Given the description of an element on the screen output the (x, y) to click on. 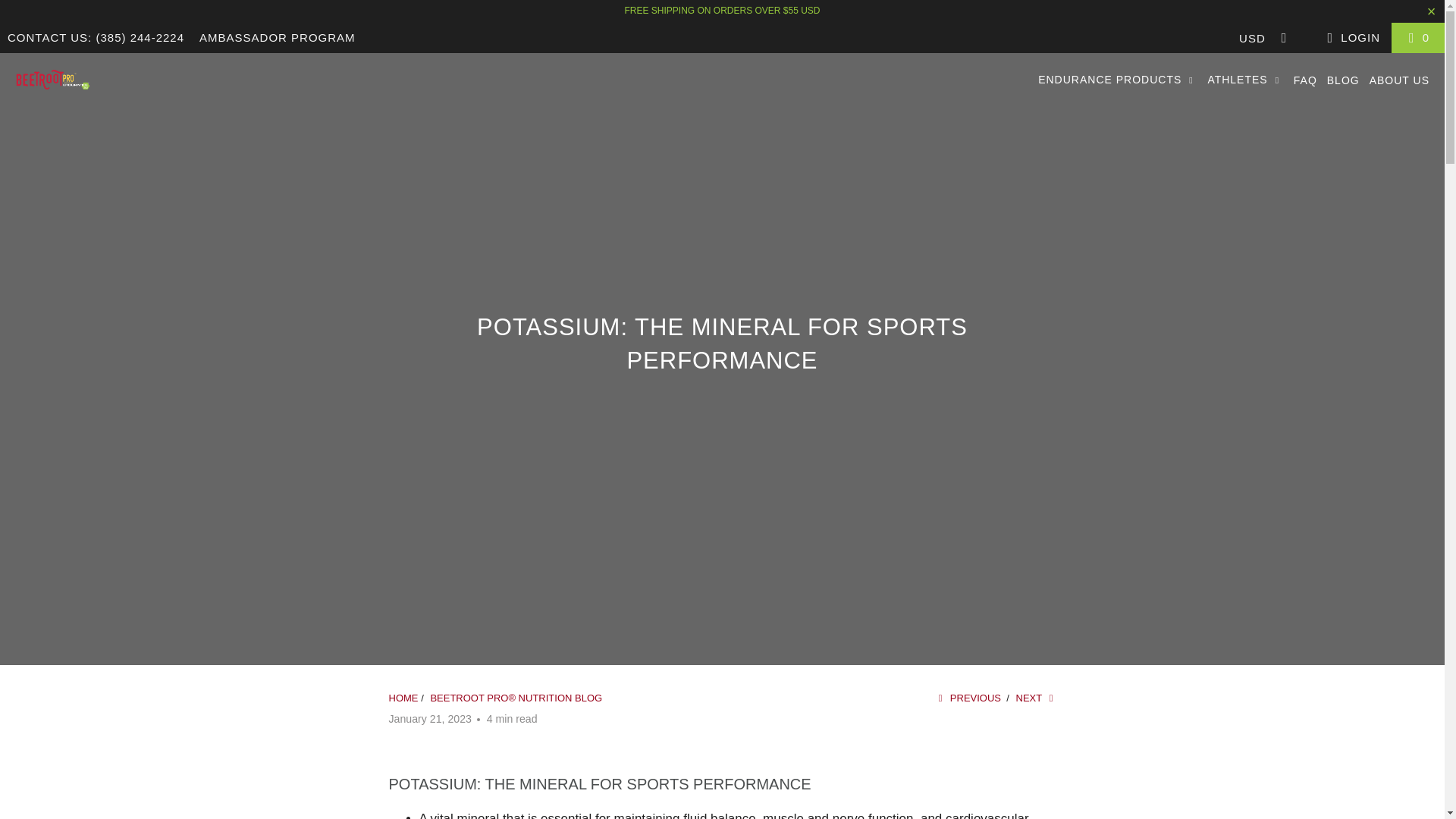
My Account  (1351, 37)
